Given the description of an element on the screen output the (x, y) to click on. 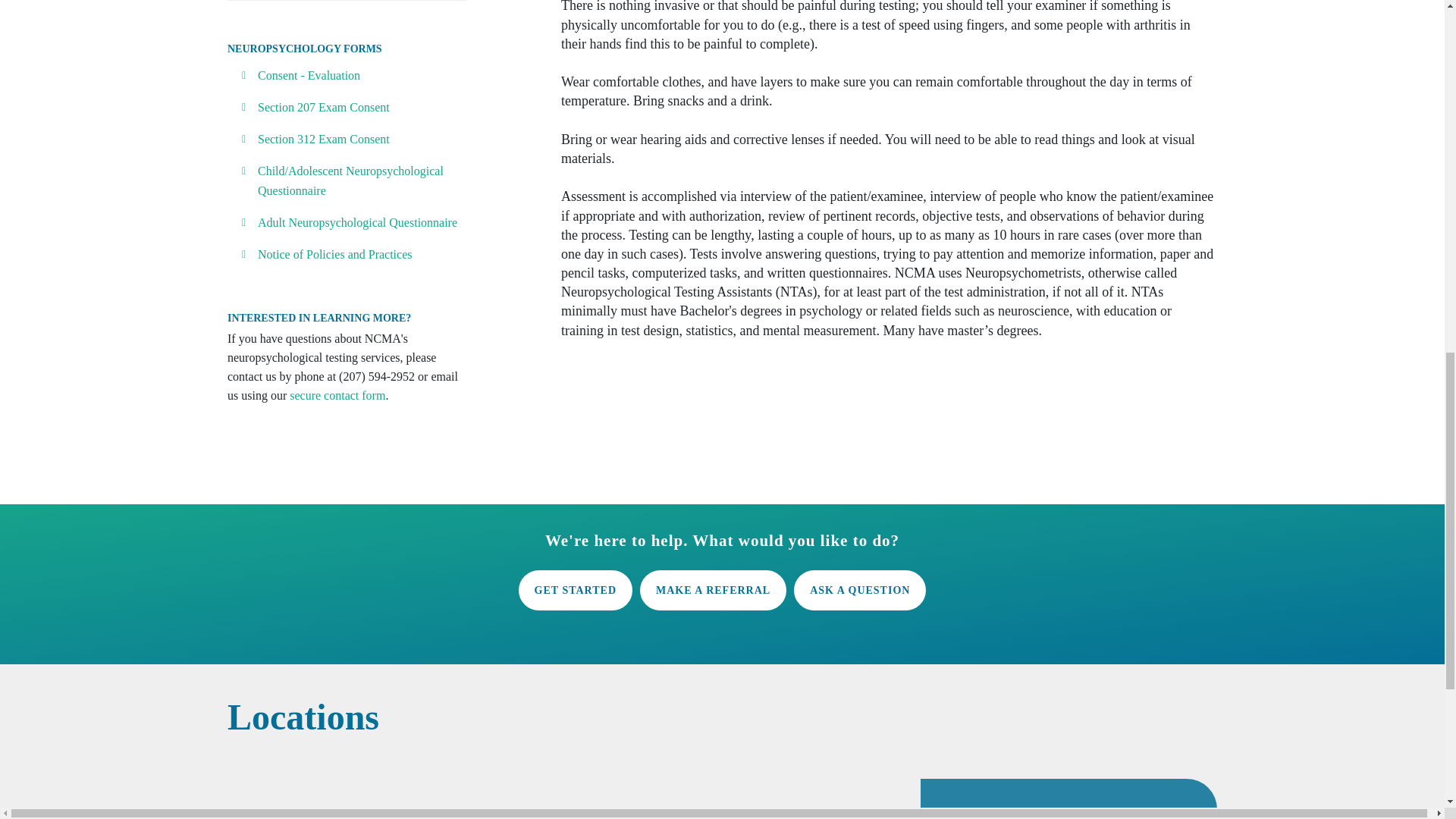
Section 312 Exam Consent (323, 138)
secure contact form (337, 395)
Consent - Evaluation (308, 74)
GET STARTED (574, 590)
Section 207 Exam Consent (323, 106)
Notice of Policies and Practices (334, 254)
MAKE A REFERRAL (713, 590)
ASK A QUESTION (859, 590)
Adult Neuropsychological Questionnaire (357, 222)
